Given the description of an element on the screen output the (x, y) to click on. 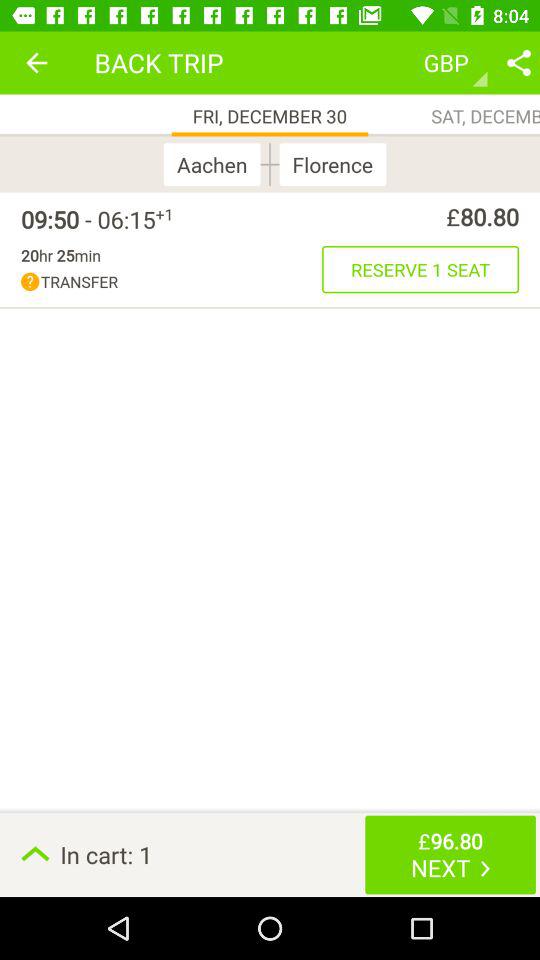
turn off 20hr 25min item (60, 255)
